Given the description of an element on the screen output the (x, y) to click on. 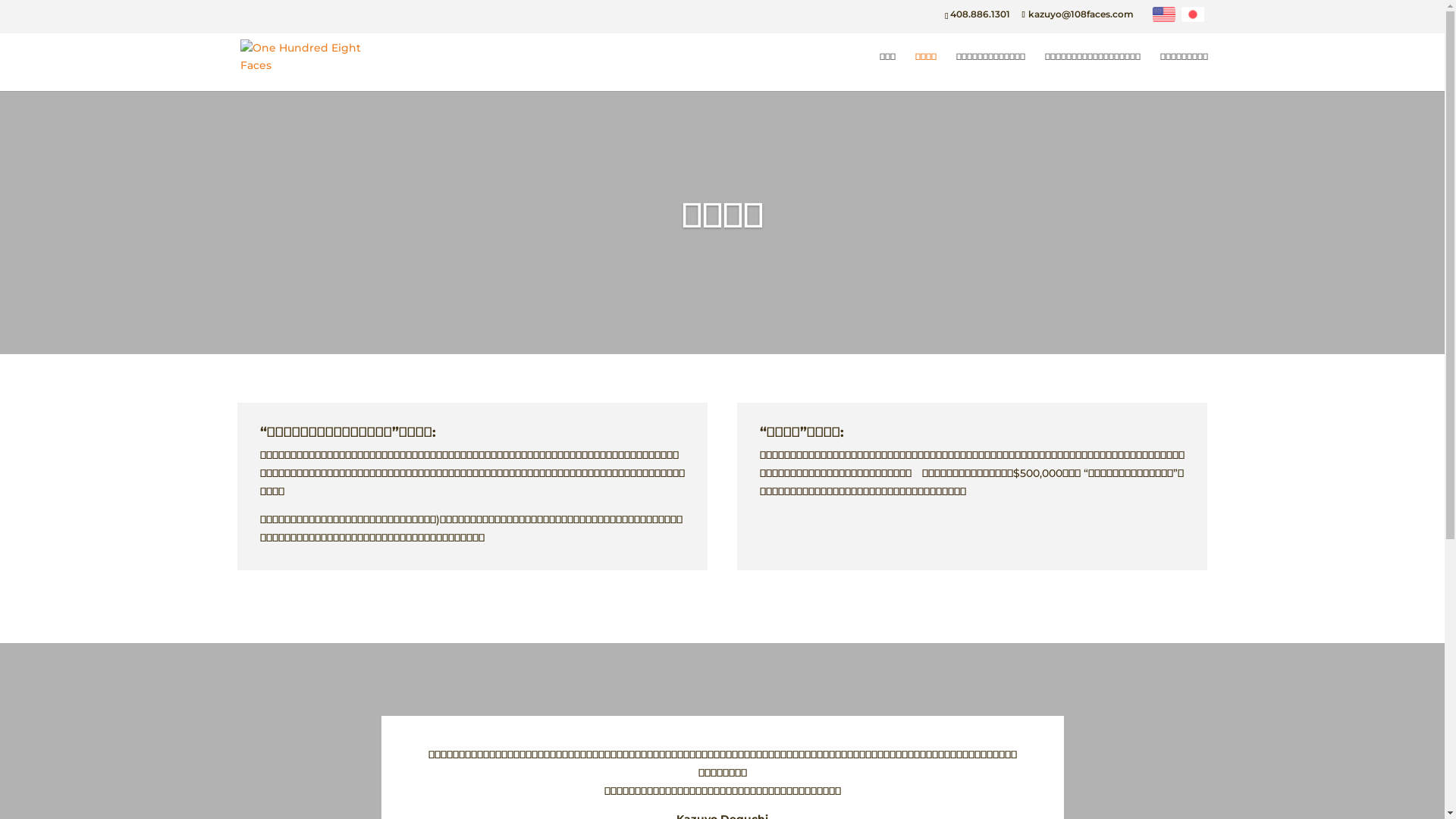
kazuyo@108faces.com Element type: text (1077, 13)
